Given the description of an element on the screen output the (x, y) to click on. 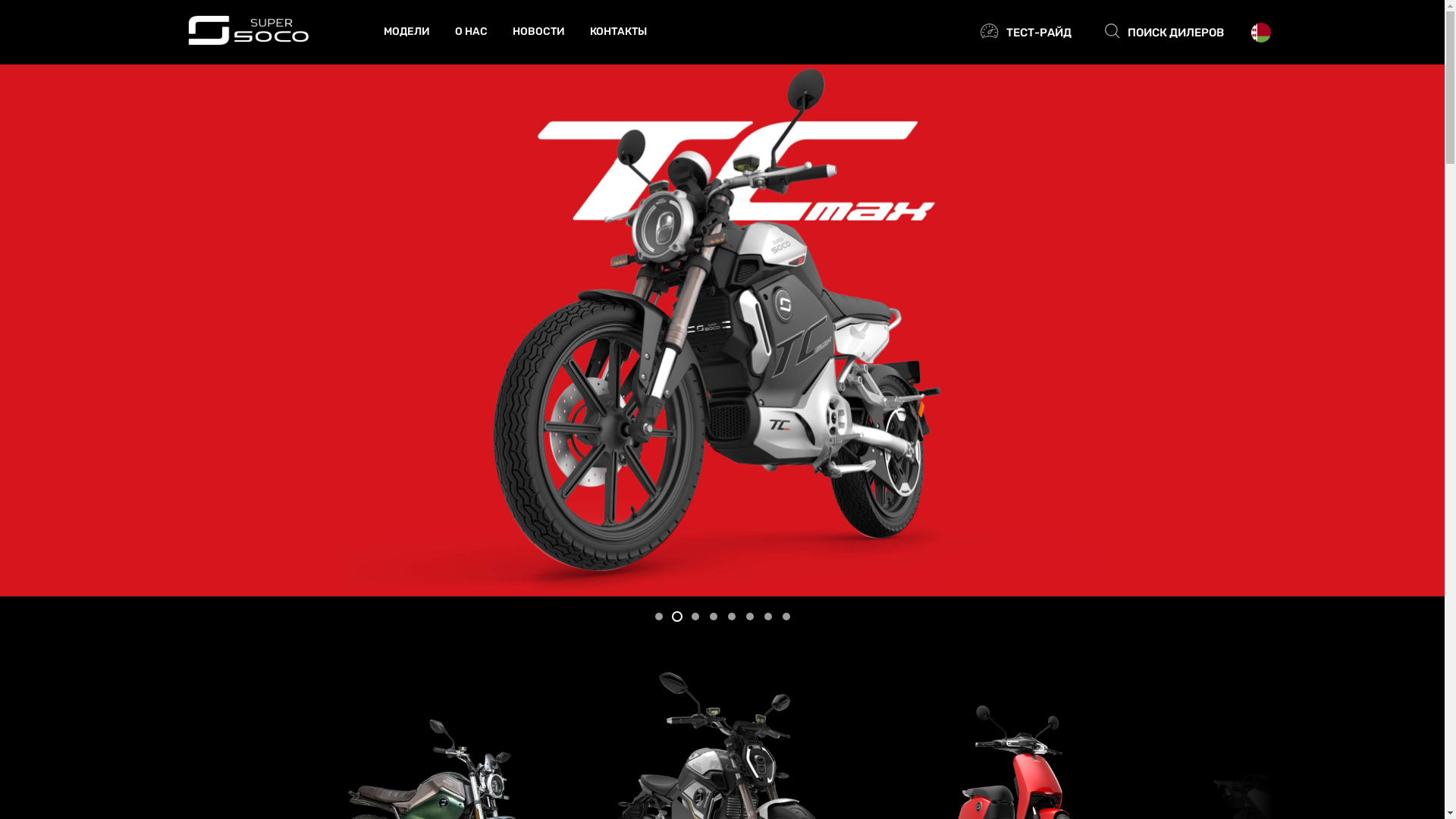
Select country Element type: hover (1260, 32)
